Given the description of an element on the screen output the (x, y) to click on. 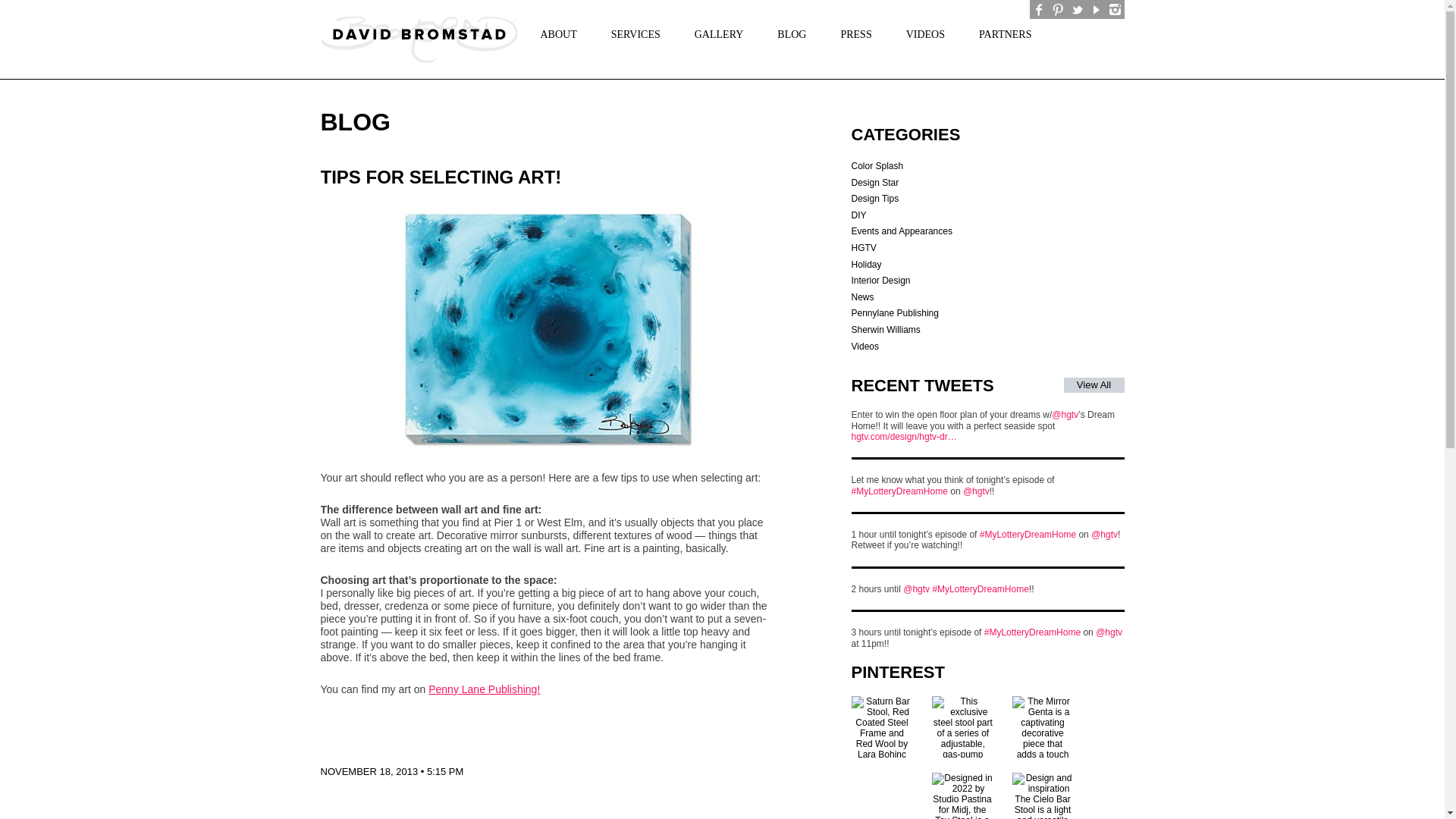
Penny Lane Publishing! (484, 689)
VIDEOS (919, 34)
Follow David Bromstad on Pinterest (1057, 9)
View All (1093, 385)
Design Tips (874, 198)
Penny Lane Publishing (484, 689)
News (861, 296)
PARTNERS (999, 34)
Videos (863, 346)
Interior Design (880, 280)
ABOUT (552, 34)
SERVICES (630, 34)
BLOG (785, 34)
GALLERY (713, 34)
DIY (858, 214)
